Given the description of an element on the screen output the (x, y) to click on. 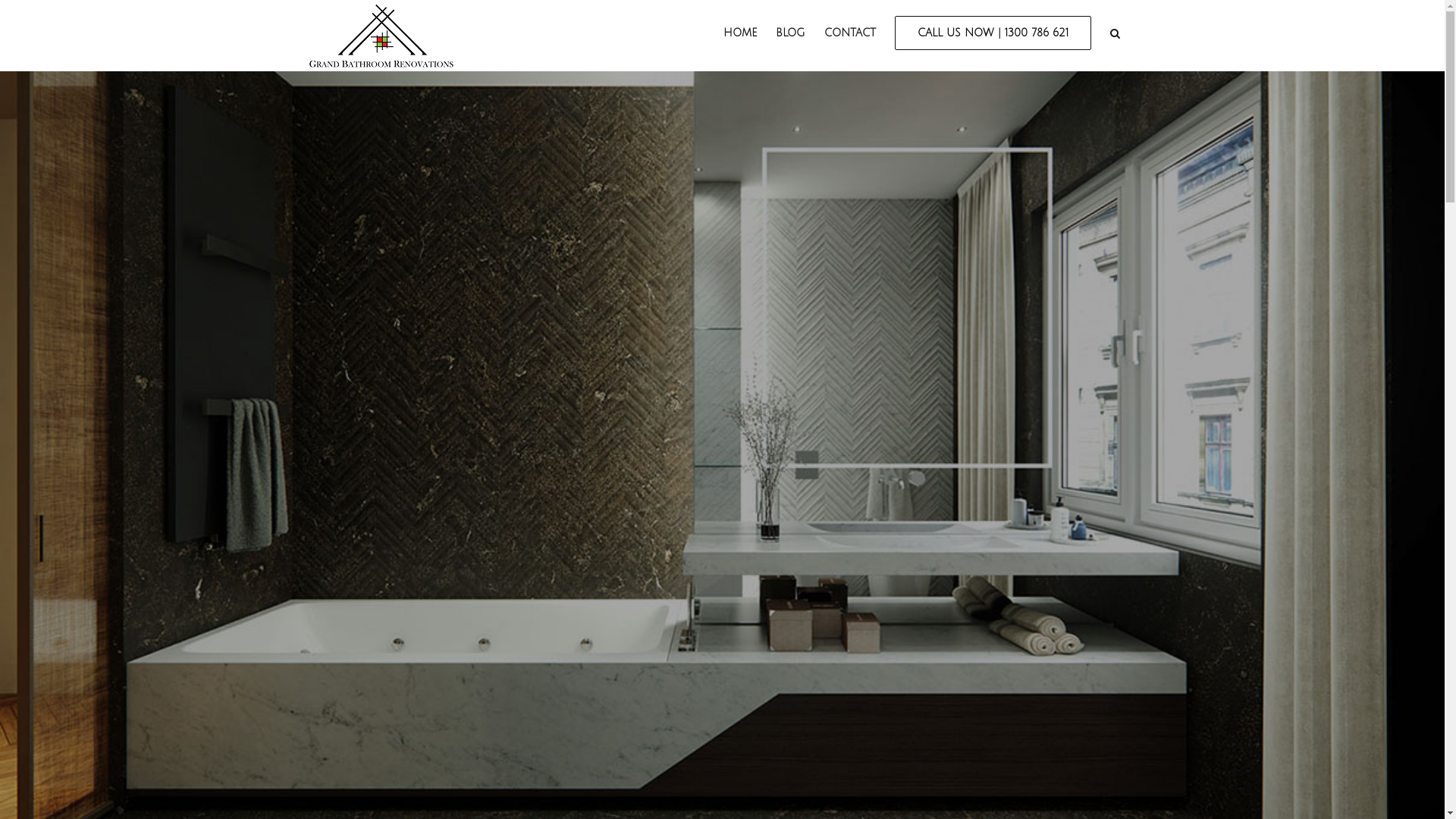
CONTACT Element type: text (849, 31)
Search Element type: hover (1115, 31)
BLOG Element type: text (789, 31)
HOME Element type: text (739, 31)
CALL US NOW | 1300 786 621 Element type: text (992, 31)
